Given the description of an element on the screen output the (x, y) to click on. 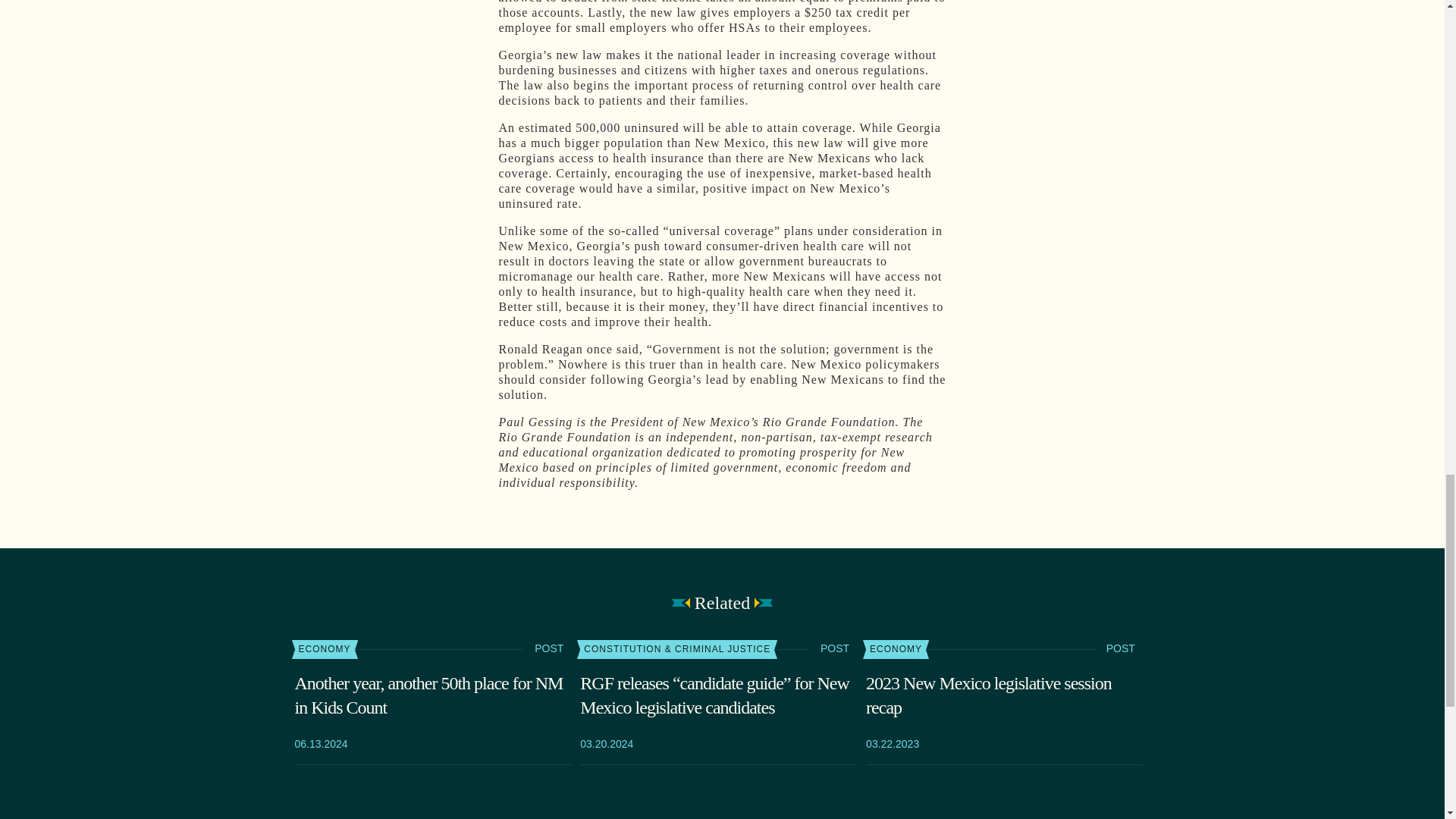
Another year, another 50th place for NM in Kids Count (432, 694)
2023 New Mexico legislative session recap (1004, 694)
